Given the description of an element on the screen output the (x, y) to click on. 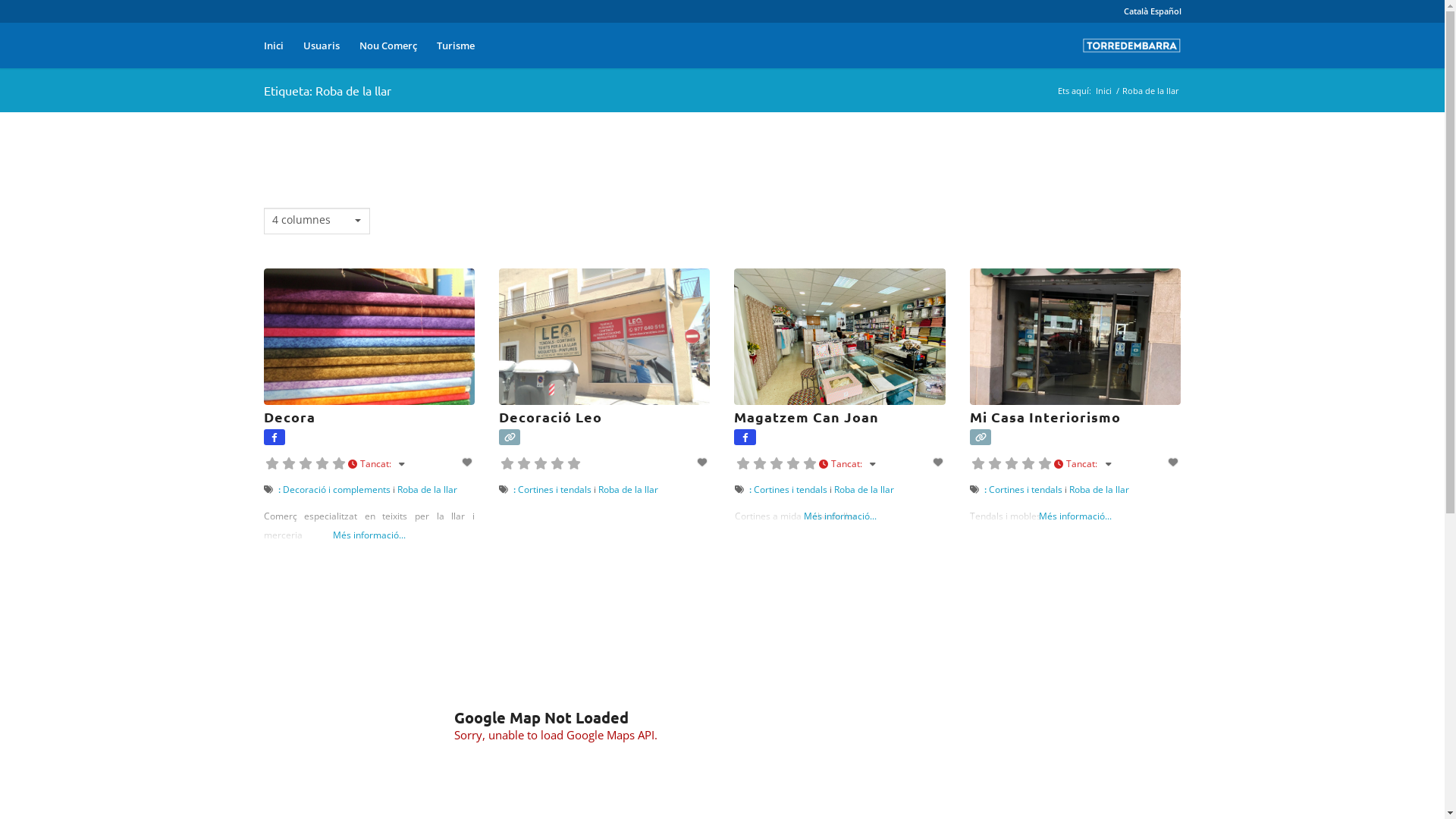
Add to Favorites Element type: hover (703, 461)
Roba de la llar Element type: text (1099, 489)
Turisme Element type: text (454, 45)
Expand opening hours Element type: hover (400, 463)
Inici Element type: text (1103, 90)
Expand opening hours Element type: hover (1106, 463)
Cortines i tendals Element type: text (1025, 489)
Web Element type: hover (980, 437)
Cortines i tendals Element type: text (554, 489)
Usuaris Element type: text (320, 45)
No rating yet! Element type: hover (541, 463)
Add to Favorites Element type: hover (1174, 461)
Add to Favorites Element type: hover (938, 461)
No rating yet! Element type: hover (305, 463)
Expand opening hours Element type: hover (871, 463)
Roba de la llar Element type: text (427, 489)
Facebook Element type: hover (274, 437)
Cortines i tendals Element type: text (790, 489)
Facebook Element type: hover (744, 437)
Inici Element type: text (272, 45)
Decora Element type: text (289, 416)
logo-header-home Element type: hover (1131, 45)
Web Element type: hover (509, 437)
Etiqueta: Roba de la llar Element type: text (327, 89)
No rating yet! Element type: hover (1012, 463)
Add to Favorites Element type: hover (468, 461)
Roba de la llar Element type: text (628, 489)
Mi Casa Interiorismo Element type: text (1044, 416)
Magatzem Can Joan Element type: text (806, 416)
No rating yet! Element type: hover (776, 463)
Roba de la llar Element type: text (864, 489)
